Given the description of an element on the screen output the (x, y) to click on. 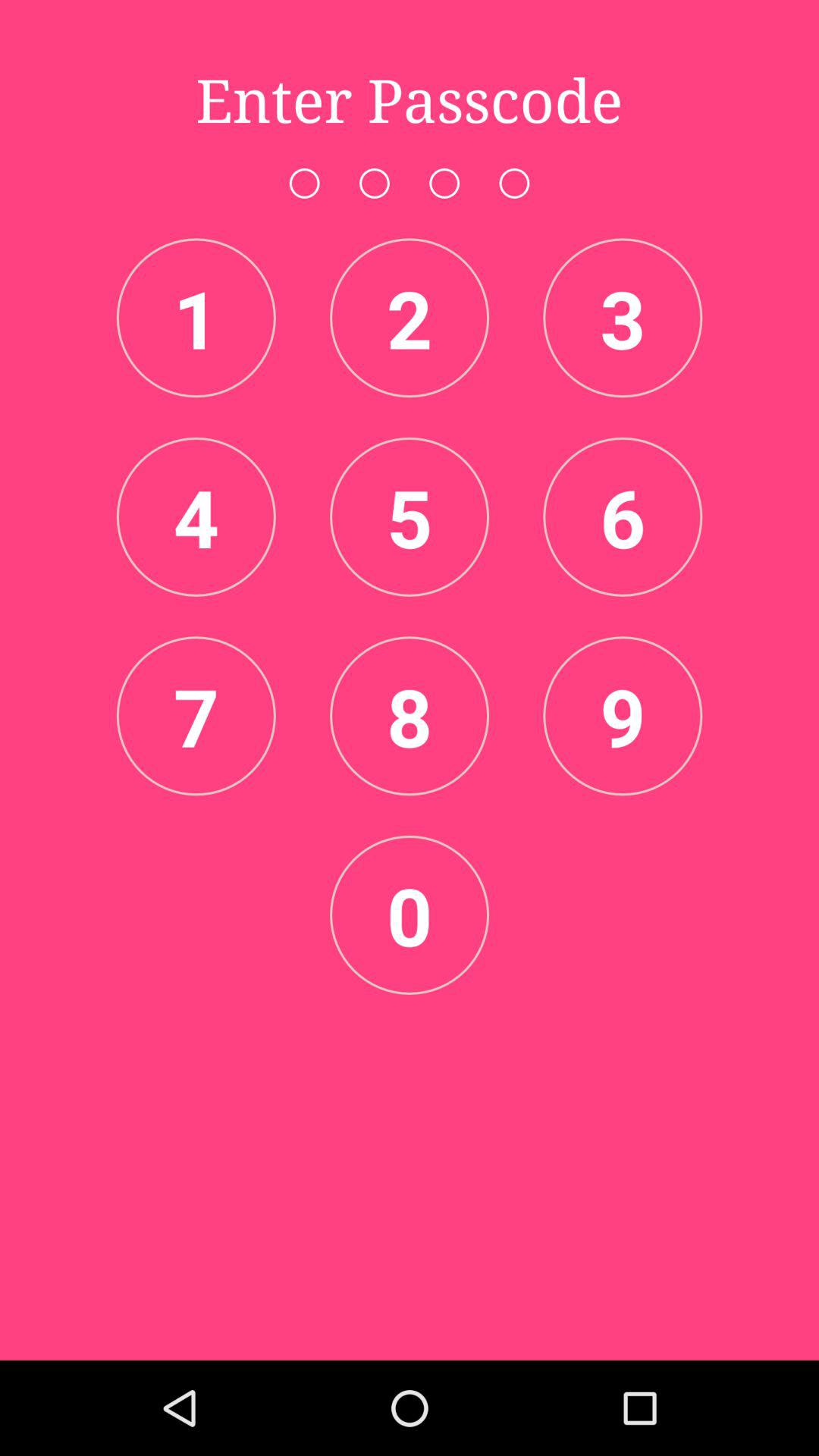
open the icon next to the 5 item (622, 516)
